Given the description of an element on the screen output the (x, y) to click on. 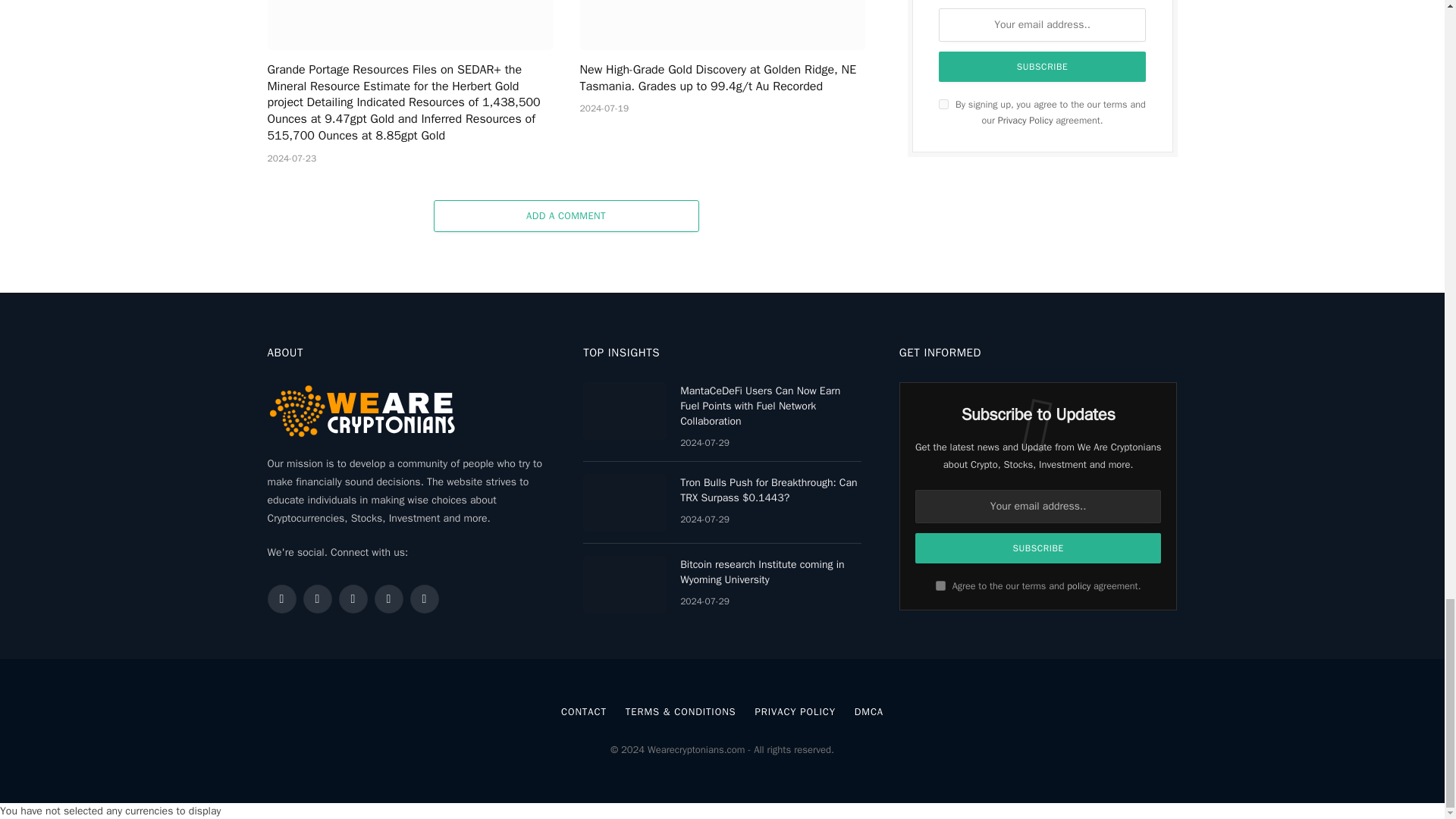
Subscribe (1038, 548)
on (944, 103)
on (940, 585)
Subscribe (1043, 66)
